Given the description of an element on the screen output the (x, y) to click on. 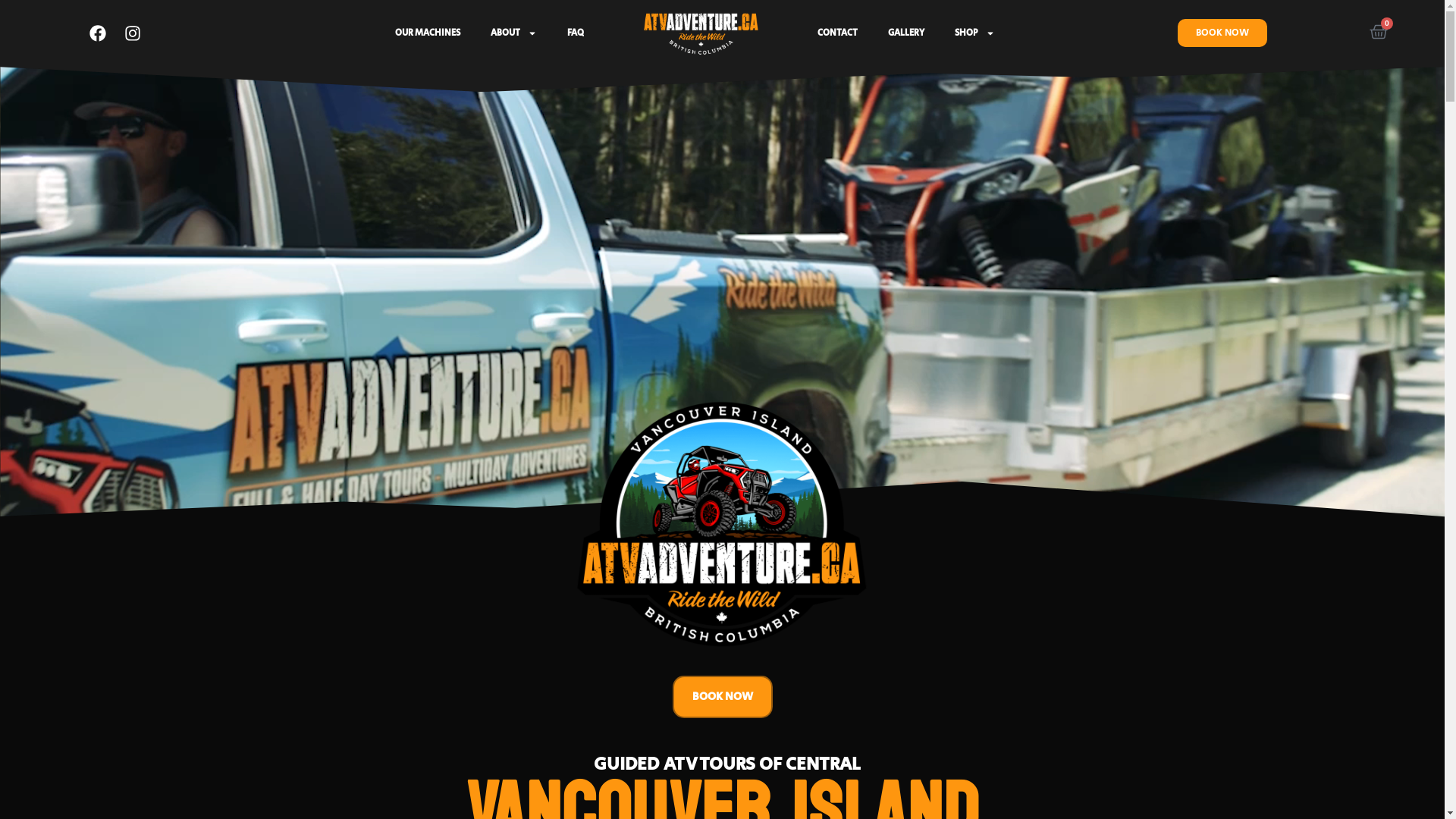
GALLERY Element type: text (905, 32)
Logo | atvadventure.ca | atvadventure.ca Element type: hover (722, 527)
SHOP Element type: text (974, 32)
BOOK NOW Element type: text (721, 696)
CONTACT Element type: text (837, 32)
0 Element type: text (1378, 33)
OUR MACHINES Element type: text (427, 32)
ABOUT Element type: text (513, 32)
FAQ Element type: text (575, 32)
ATV Adventure PNG_1@4x | atvadventure.ca Element type: hover (699, 33)
BOOK NOW Element type: text (1222, 32)
